Given the description of an element on the screen output the (x, y) to click on. 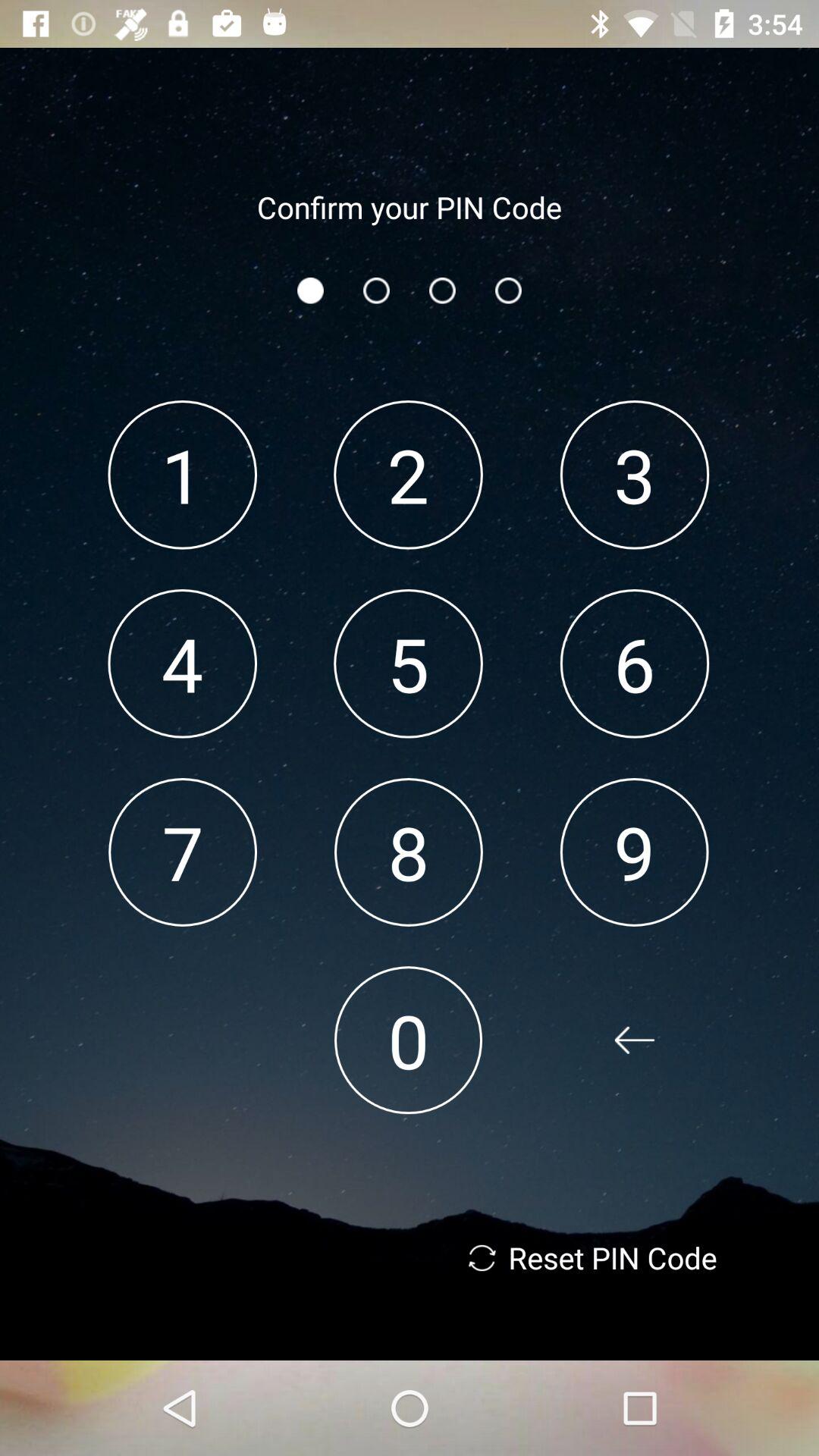
click 3 item (634, 474)
